Given the description of an element on the screen output the (x, y) to click on. 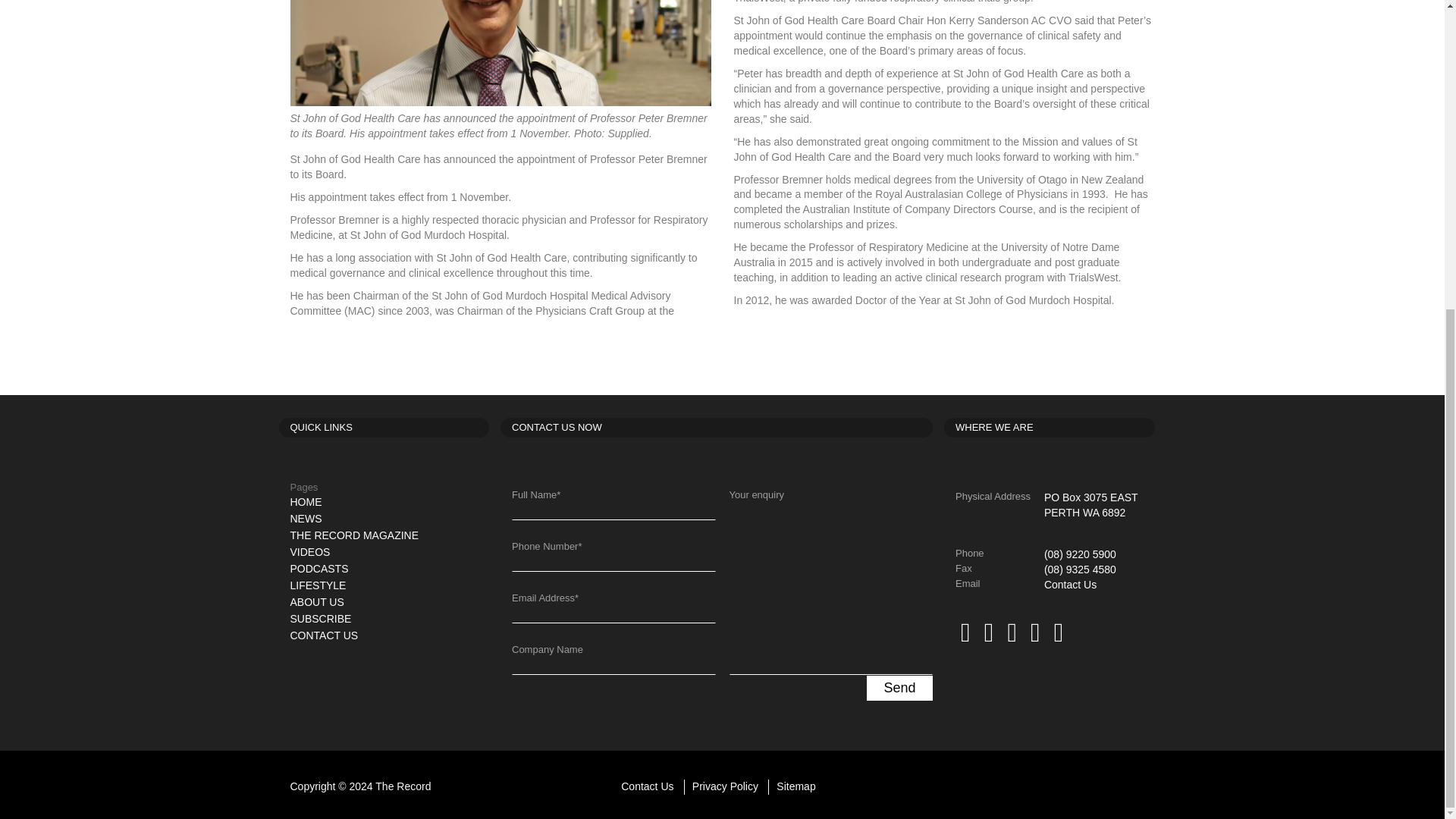
Send (899, 688)
